Given the description of an element on the screen output the (x, y) to click on. 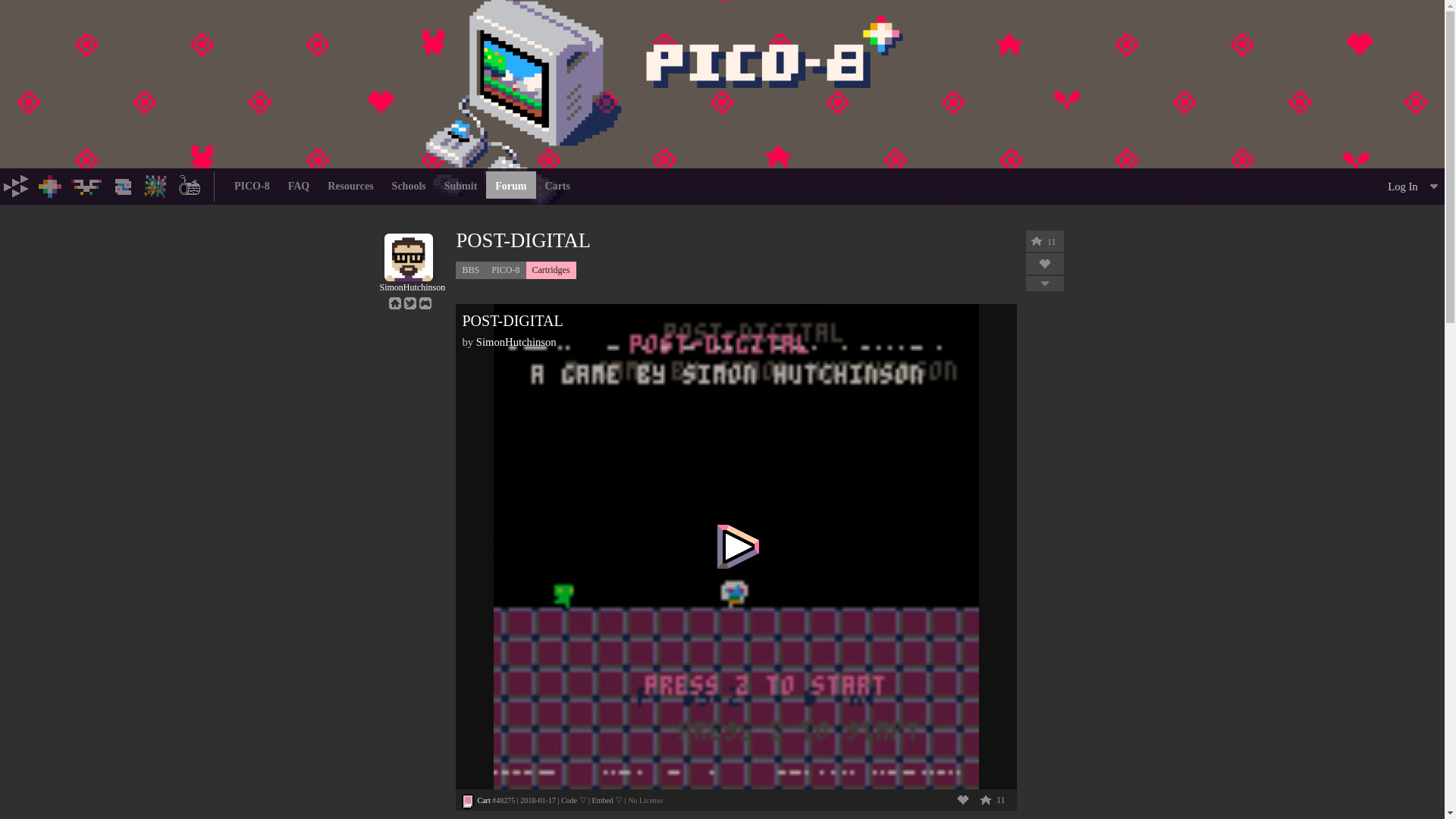
Lexaloffle Games (16, 184)
BBS (156, 184)
Add to your favourites collection (963, 799)
Voxatron (86, 184)
Superblog (189, 184)
SimonHutchinson (408, 282)
Give this post a star (1036, 240)
PICO-8 (49, 184)
Open Cartridge File (483, 800)
Add to your favourites collection (1044, 263)
